Given the description of an element on the screen output the (x, y) to click on. 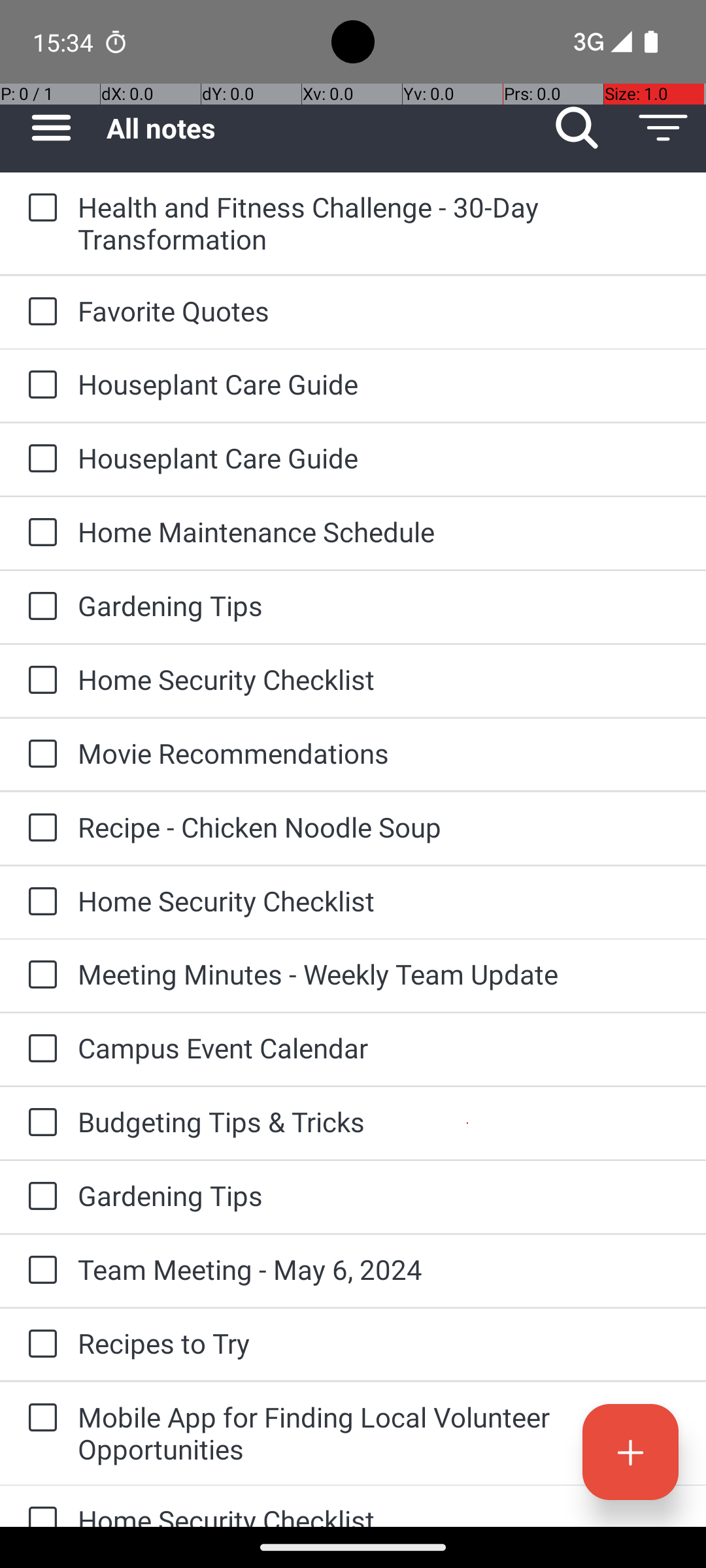
to-do: Health and Fitness Challenge - 30-Day Transformation Element type: android.widget.CheckBox (38, 208)
Health and Fitness Challenge - 30-Day Transformation Element type: android.widget.TextView (378, 222)
to-do: Favorite Quotes Element type: android.widget.CheckBox (38, 312)
Favorite Quotes Element type: android.widget.TextView (378, 310)
to-do: Houseplant Care Guide Element type: android.widget.CheckBox (38, 385)
Houseplant Care Guide Element type: android.widget.TextView (378, 383)
to-do: Gardening Tips Element type: android.widget.CheckBox (38, 606)
Gardening Tips Element type: android.widget.TextView (378, 604)
to-do: Home Security Checklist Element type: android.widget.CheckBox (38, 680)
Home Security Checklist Element type: android.widget.TextView (378, 678)
to-do: Movie Recommendations Element type: android.widget.CheckBox (38, 754)
Movie Recommendations Element type: android.widget.TextView (378, 752)
to-do: Recipe - Chicken Noodle Soup Element type: android.widget.CheckBox (38, 828)
Recipe - Chicken Noodle Soup Element type: android.widget.TextView (378, 826)
to-do: Meeting Minutes - Weekly Team Update Element type: android.widget.CheckBox (38, 975)
to-do: Campus Event Calendar Element type: android.widget.CheckBox (38, 1049)
Campus Event Calendar Element type: android.widget.TextView (378, 1047)
to-do: Team Meeting - May 6, 2024 Element type: android.widget.CheckBox (38, 1270)
Team Meeting - May 6, 2024 Element type: android.widget.TextView (378, 1268)
to-do: Recipes to Try Element type: android.widget.CheckBox (38, 1344)
Recipes to Try Element type: android.widget.TextView (378, 1342)
to-do: Mobile App for Finding Local Volunteer Opportunities Element type: android.widget.CheckBox (38, 1418)
